Given the description of an element on the screen output the (x, y) to click on. 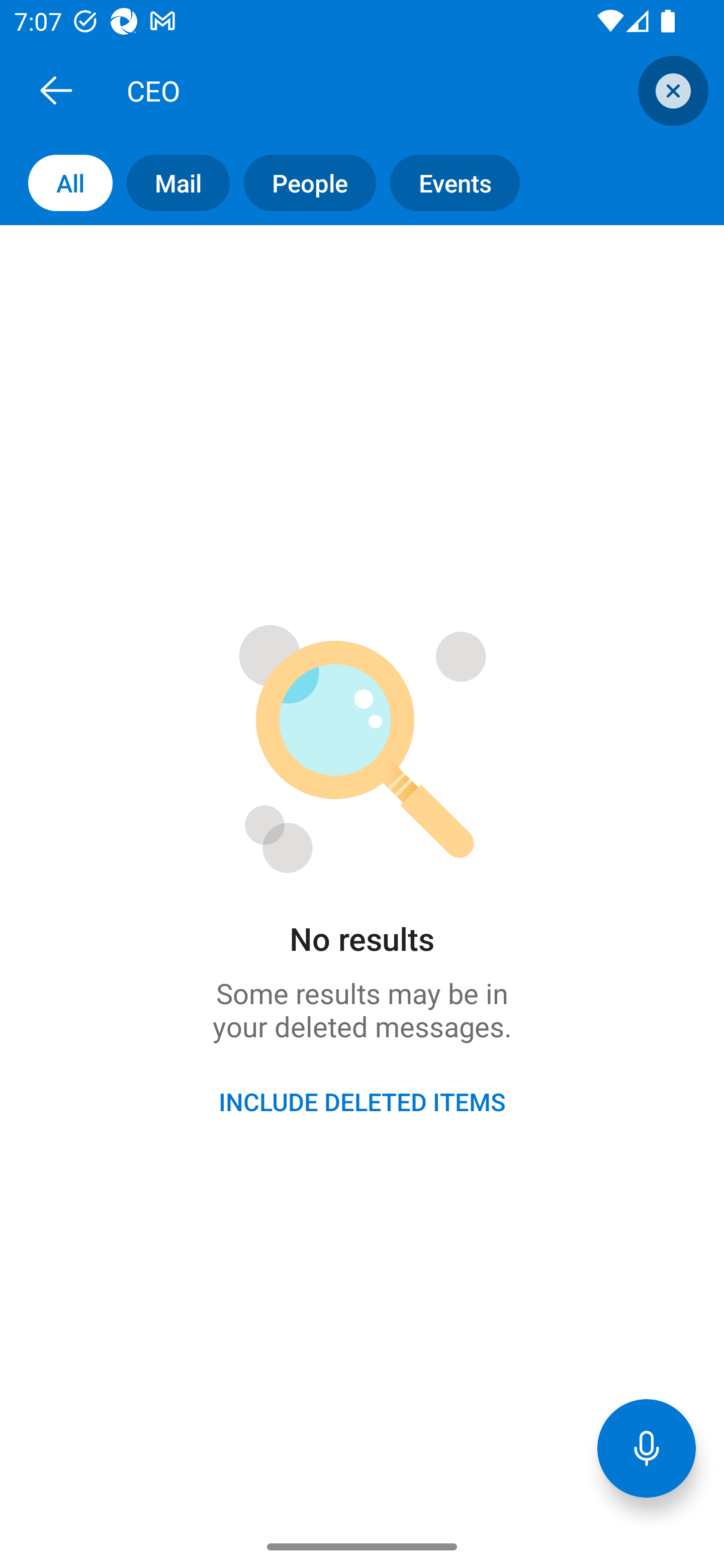
Back (55, 89)
CEO (384, 89)
clear search (670, 90)
Mail (170, 183)
People (302, 183)
Events (447, 183)
INCLUDE DELETED ITEMS (362, 1101)
Voice Assistant (646, 1447)
